Given the description of an element on the screen output the (x, y) to click on. 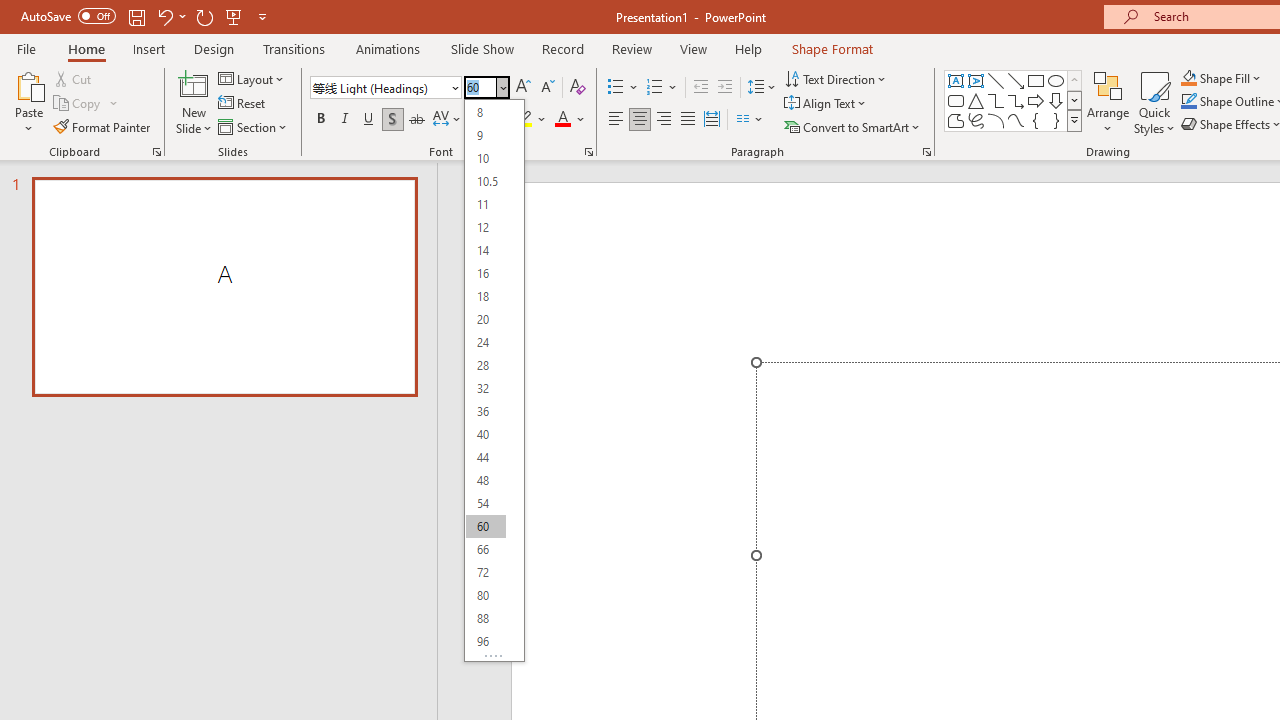
80 (485, 594)
54 (485, 502)
48 (485, 479)
